Given the description of an element on the screen output the (x, y) to click on. 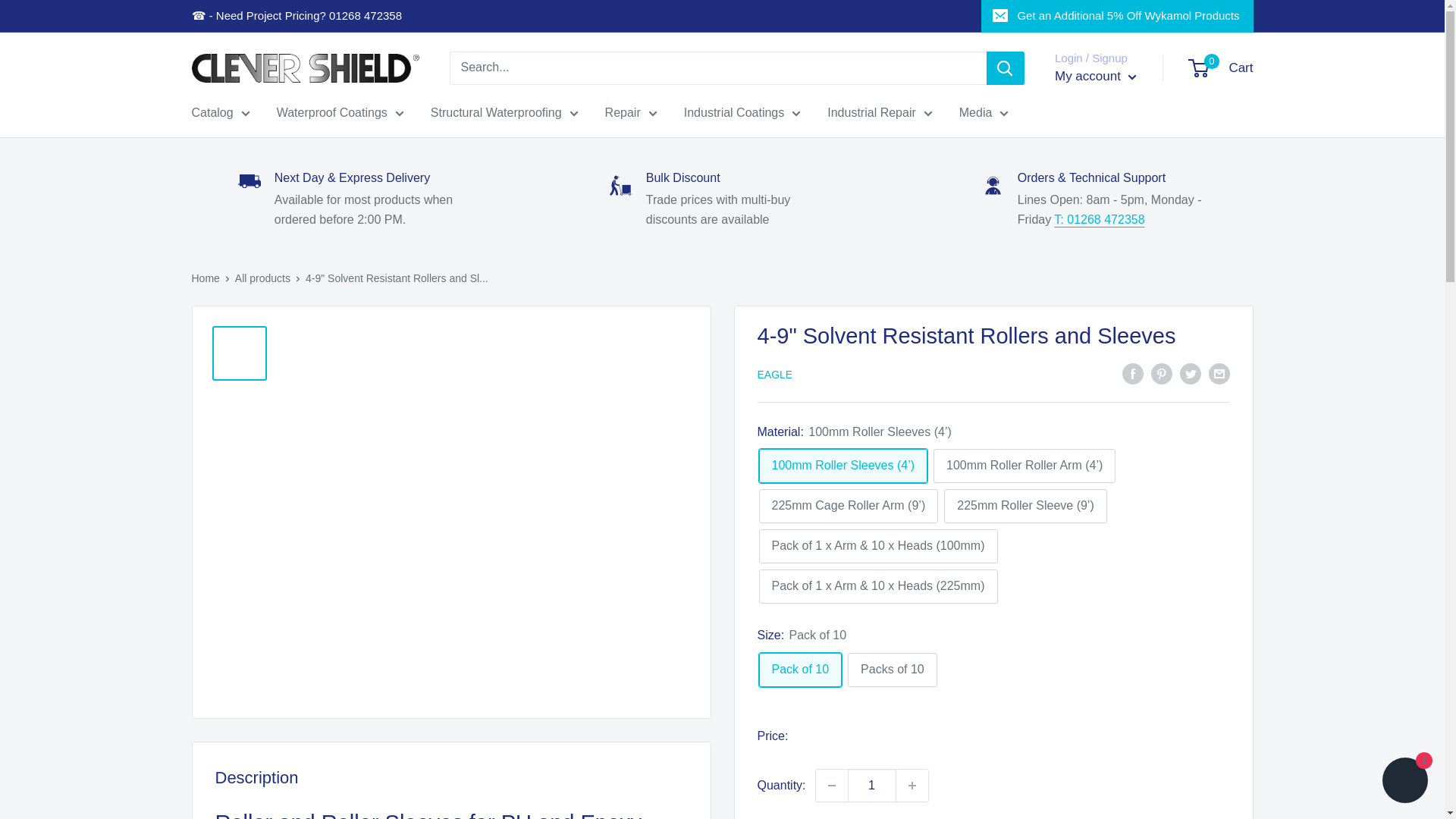
1 (871, 785)
Decrease quantity by 1 (831, 785)
Packs of 10 (892, 669)
Pack of 10 (799, 669)
tel:01268472358 (1099, 219)
Increase quantity by 1 (912, 785)
